Given the description of an element on the screen output the (x, y) to click on. 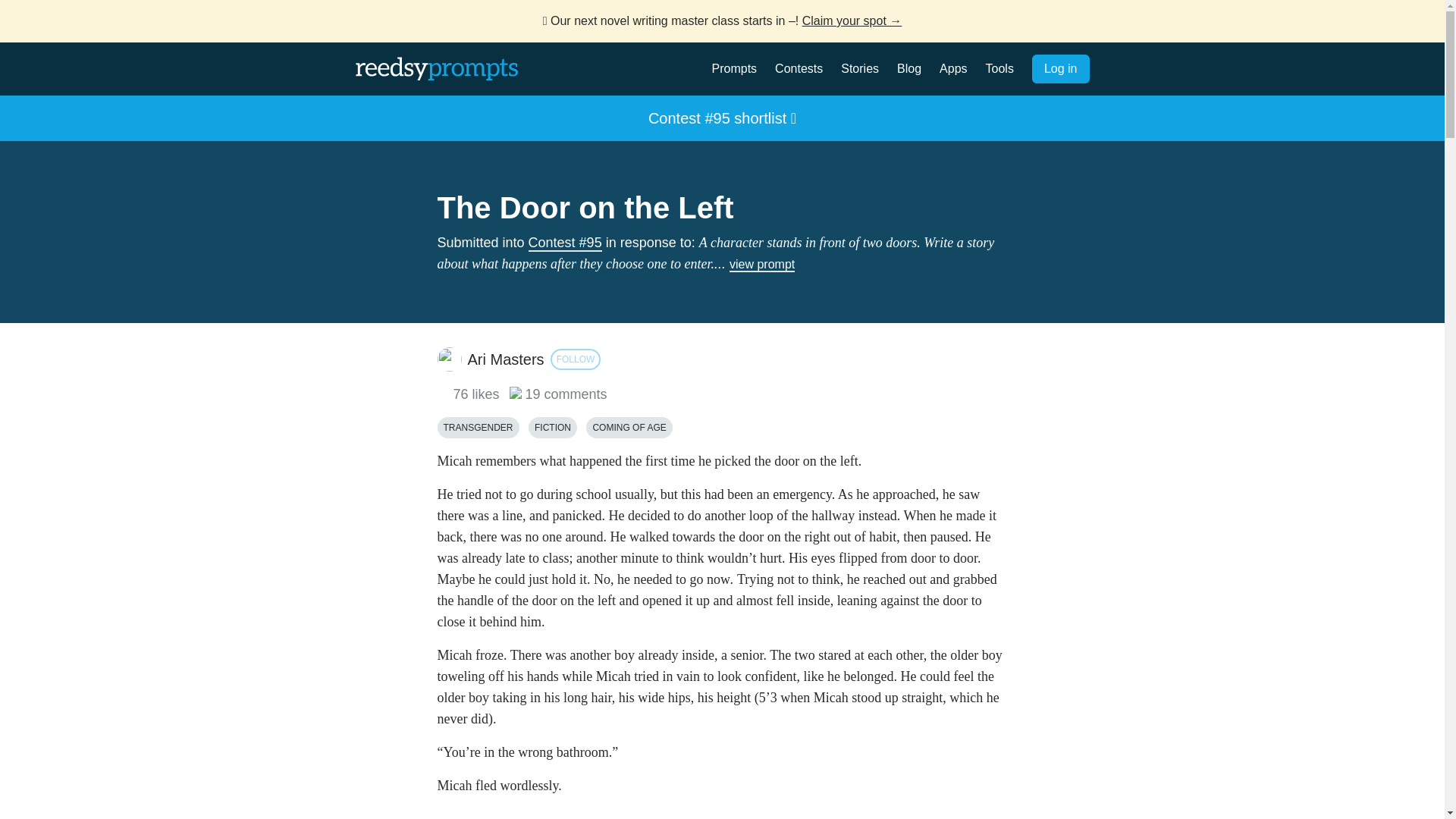
19 comments (558, 394)
Tools (999, 68)
Contests (798, 68)
Blog (908, 68)
Log in (1060, 68)
Stories (860, 68)
Apps (952, 68)
Prompts (734, 68)
